Given the description of an element on the screen output the (x, y) to click on. 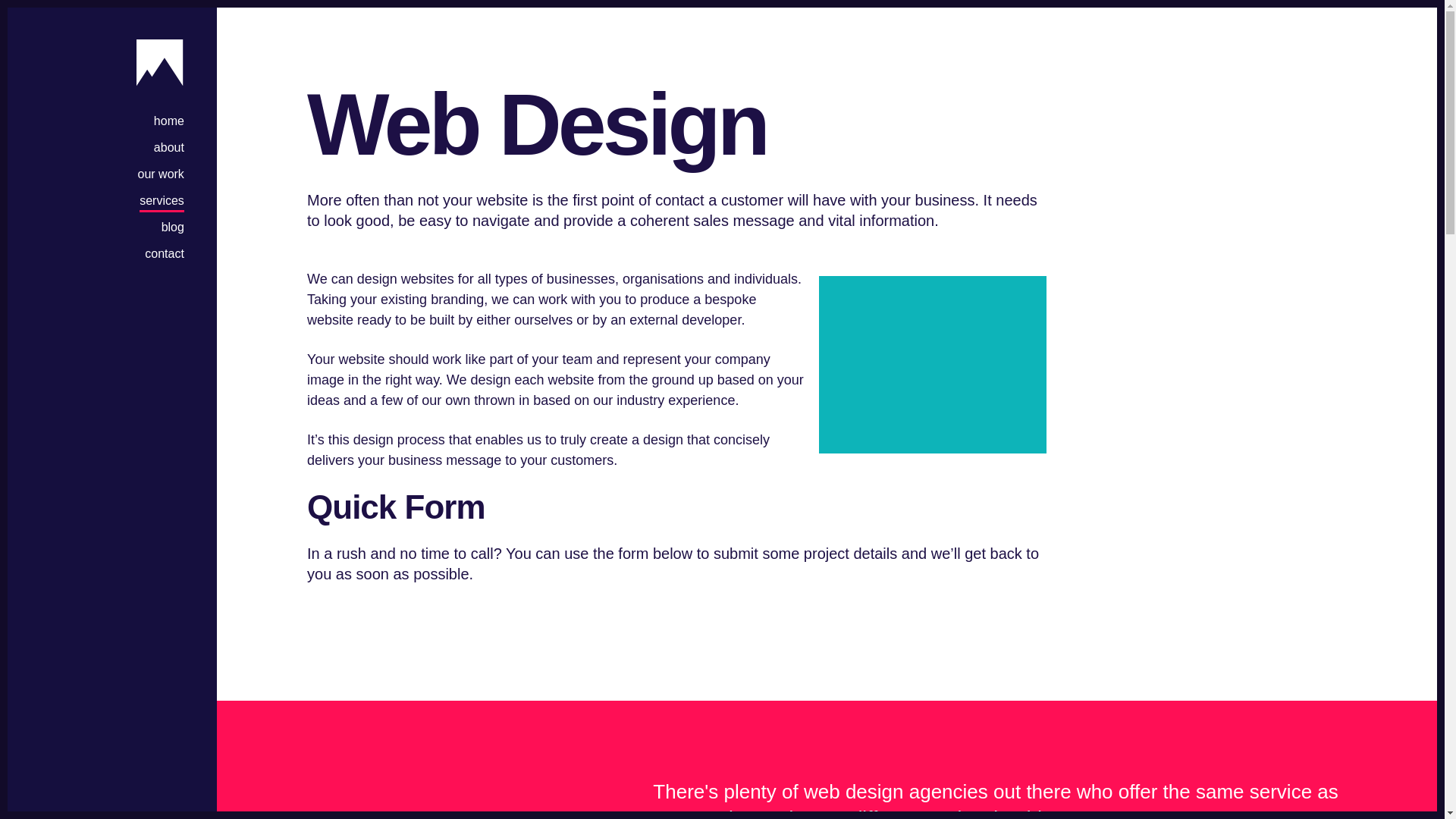
services (161, 198)
home (169, 119)
about (169, 145)
our work (161, 171)
Peak - Bristol's Web Agency (159, 61)
contact (164, 252)
